Given the description of an element on the screen output the (x, y) to click on. 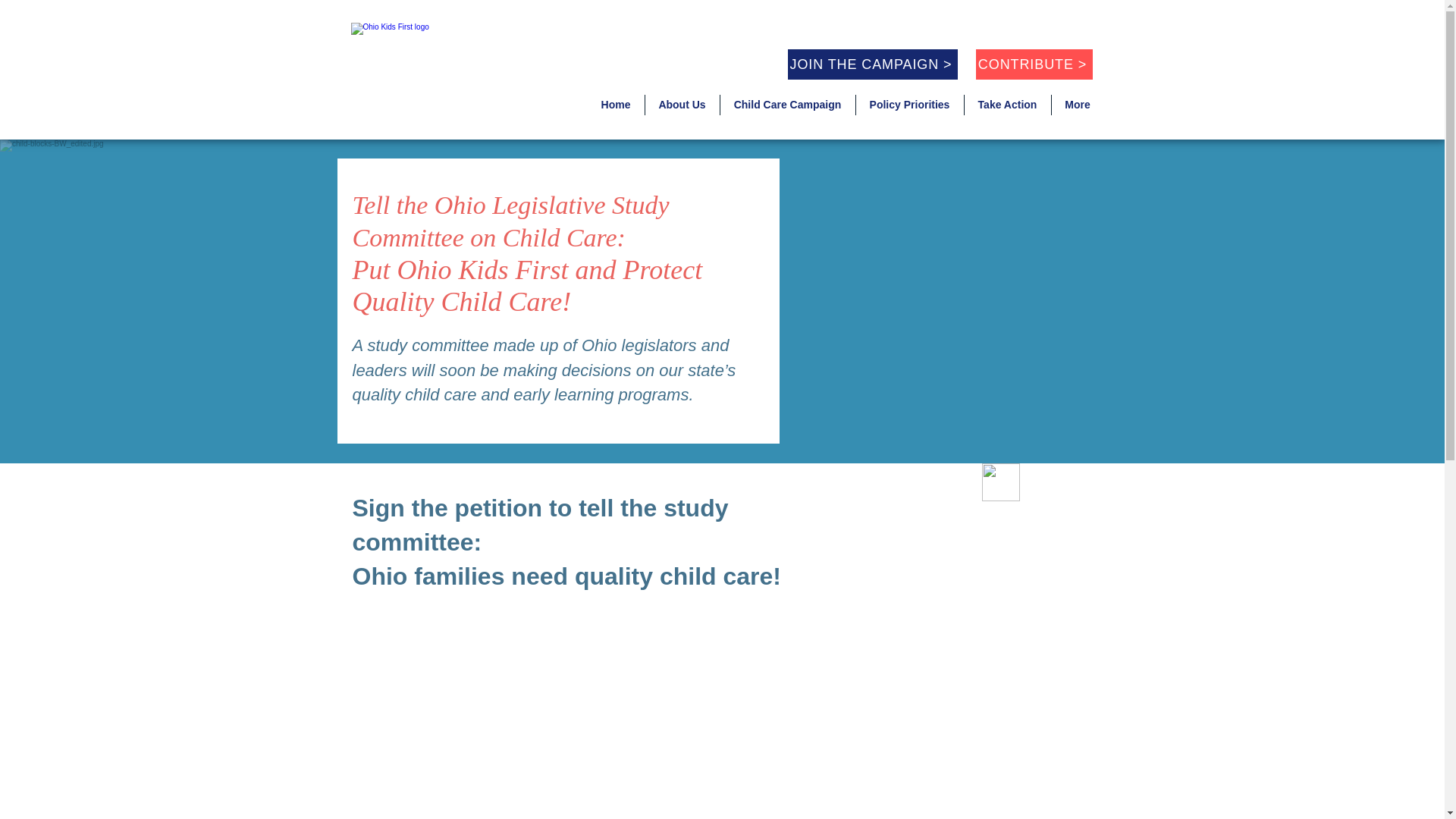
Child Care Campaign (788, 105)
About Us (682, 105)
Take Action (1007, 105)
Home (614, 105)
Policy Priorities (909, 105)
